Given the description of an element on the screen output the (x, y) to click on. 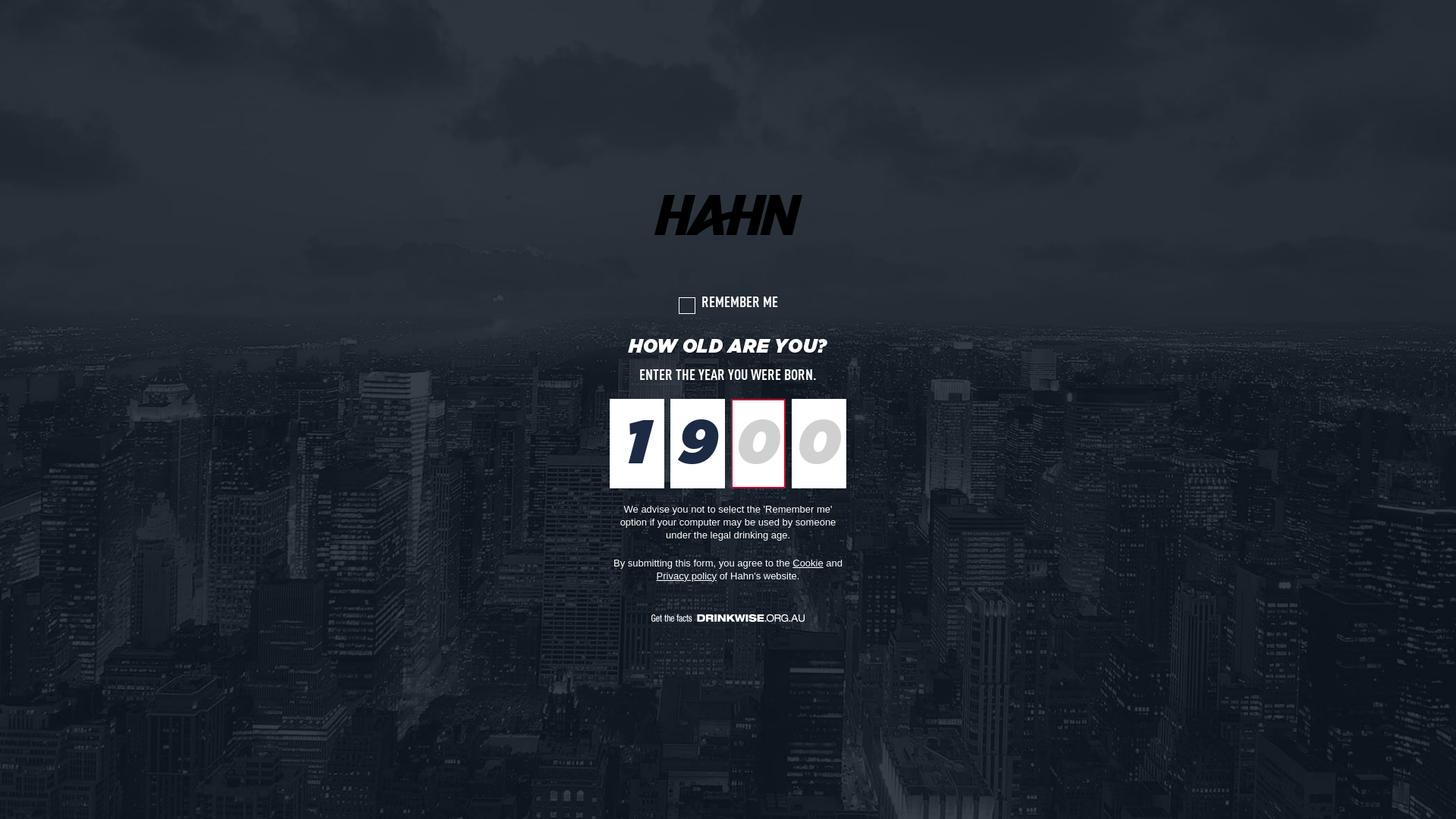
Cookie Element type: text (807, 562)
Privacy policy Element type: text (686, 575)
